Given the description of an element on the screen output the (x, y) to click on. 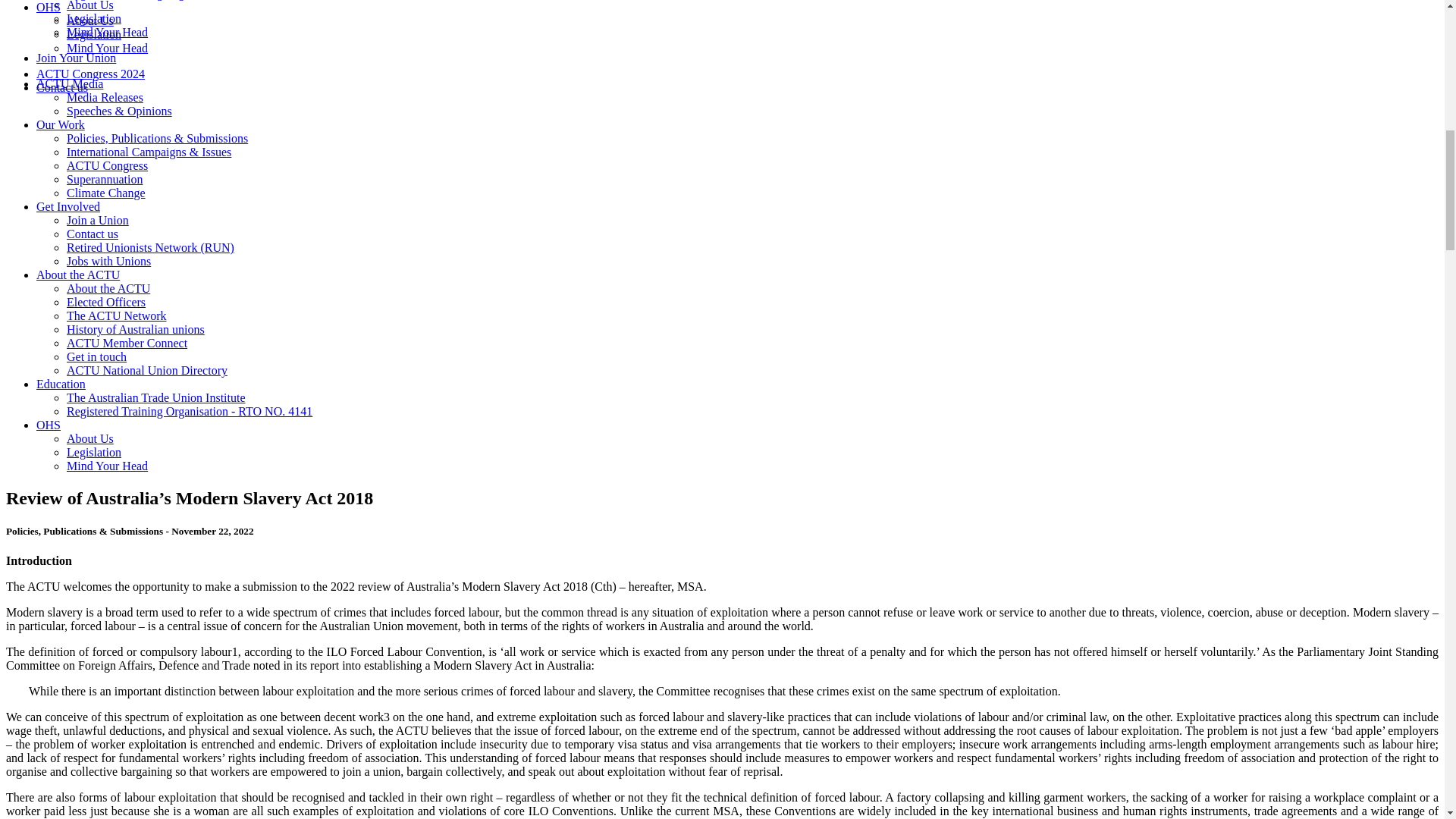
Legislation (93, 33)
Join Your Union (76, 57)
OHS (48, 6)
Media Releases (104, 97)
Our Work (60, 124)
Jobs with Unions (108, 260)
Superannuation (104, 178)
ACTU Congress 2024 (90, 73)
ACTU Congress (107, 164)
About Us (89, 20)
